Given the description of an element on the screen output the (x, y) to click on. 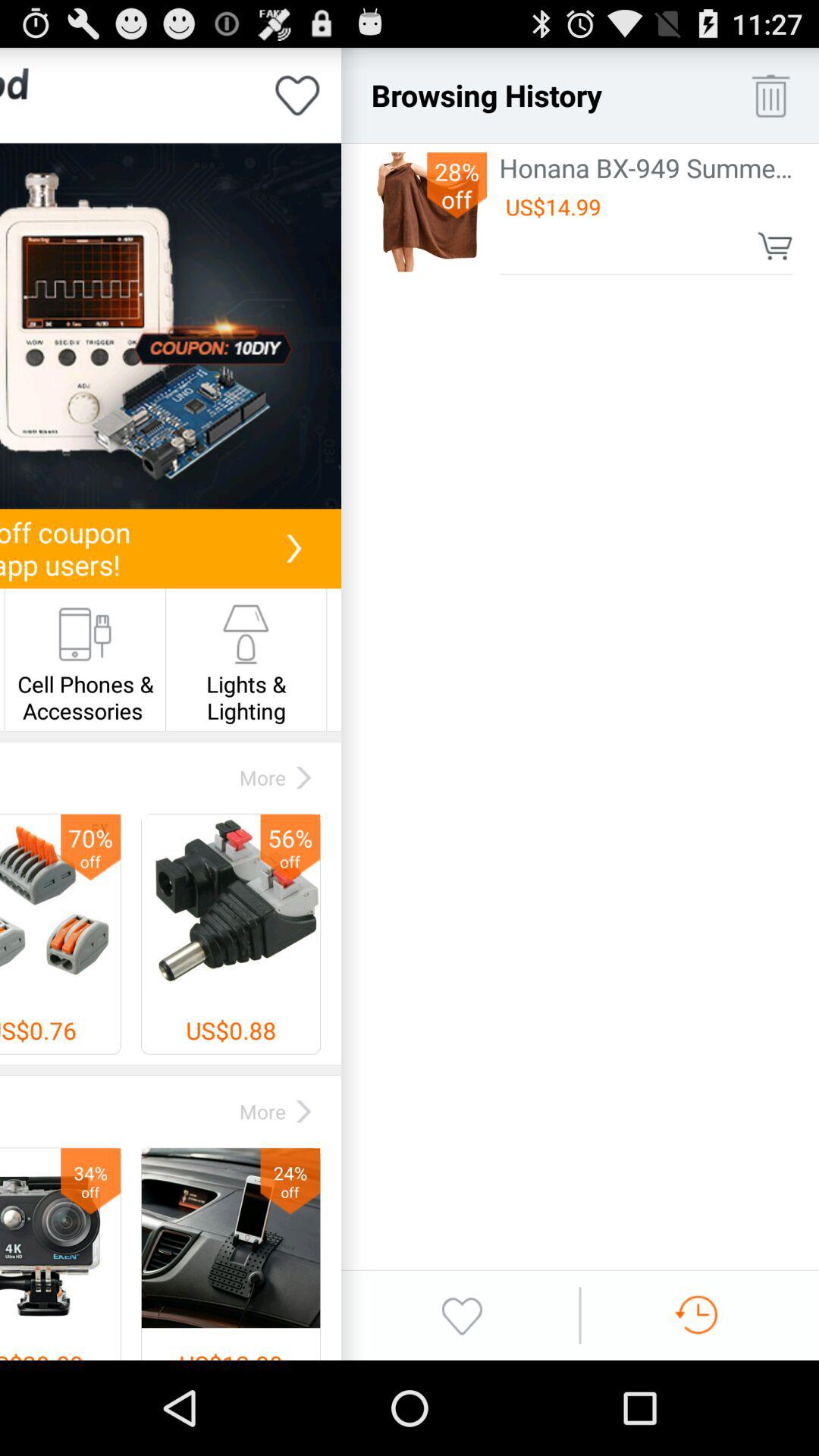
click the icon to the left of the honana bx 949 (456, 185)
